Given the description of an element on the screen output the (x, y) to click on. 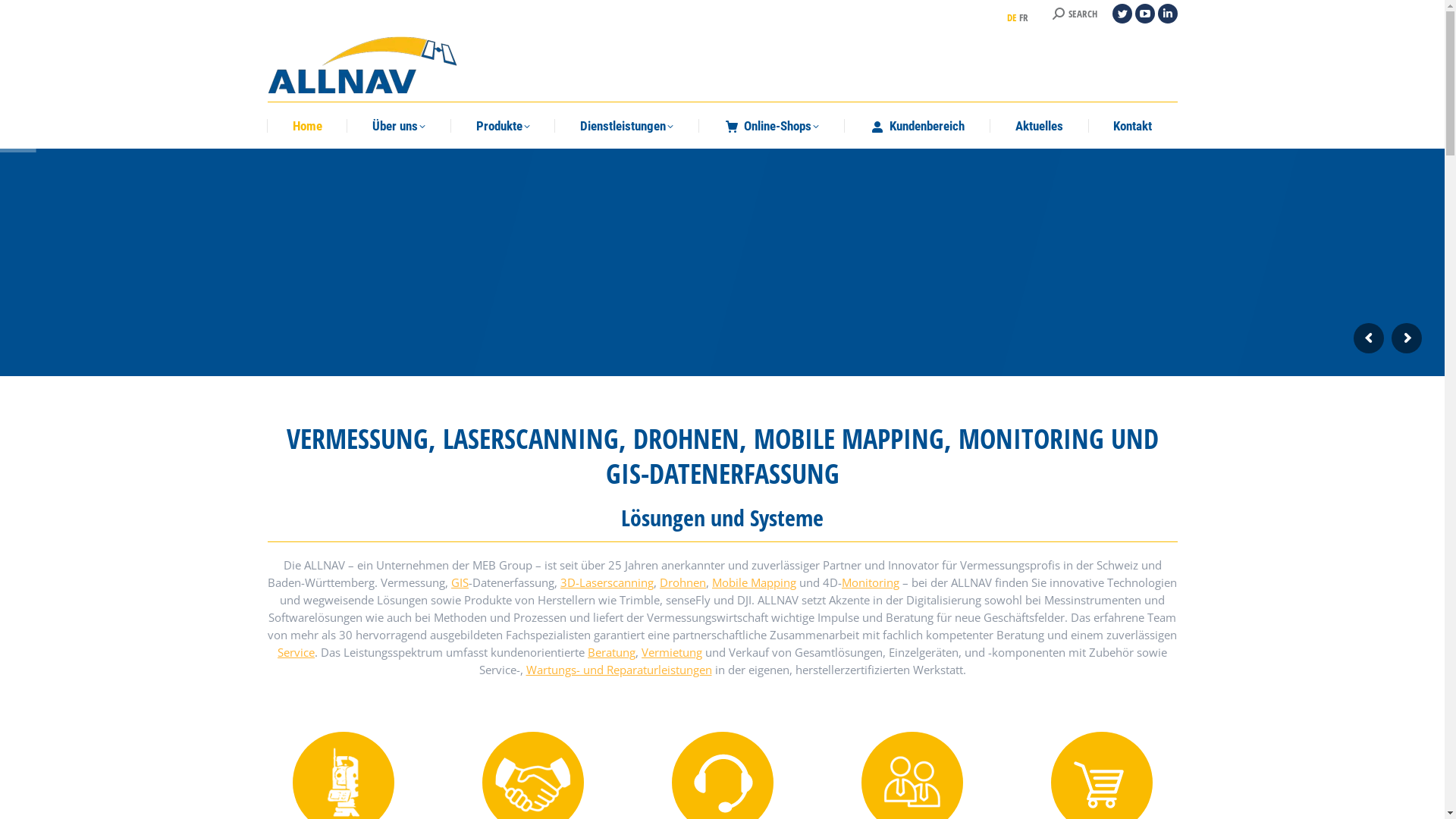
Aktuelles Element type: text (1039, 126)
DE Element type: text (1011, 17)
Dienstleistungen Element type: text (627, 126)
Drohnen Element type: text (682, 581)
SEARCH Element type: text (1074, 13)
FR Element type: text (1023, 17)
Twitter page opens in new window Element type: text (1121, 13)
TRIMBLE X7 Element type: text (331, 333)
Beratung Element type: text (611, 651)
Online-Shops Element type: text (771, 126)
Home Element type: text (307, 126)
YouTube page opens in new window Element type: text (1144, 13)
3D-Laserscanning Element type: text (606, 581)
Kundenbereich Element type: text (917, 126)
Mobile Mapping Element type: text (754, 581)
Linkedin page opens in new window Element type: text (1166, 13)
Wartungs- und Reparaturleistungen Element type: text (619, 669)
Vermietung Element type: text (671, 651)
Kontakt Element type: text (1132, 126)
Monitoring Element type: text (870, 581)
Los! Element type: text (24, 15)
GIS Element type: text (459, 581)
Service Element type: text (295, 651)
Produkte Element type: text (503, 126)
